Given the description of an element on the screen output the (x, y) to click on. 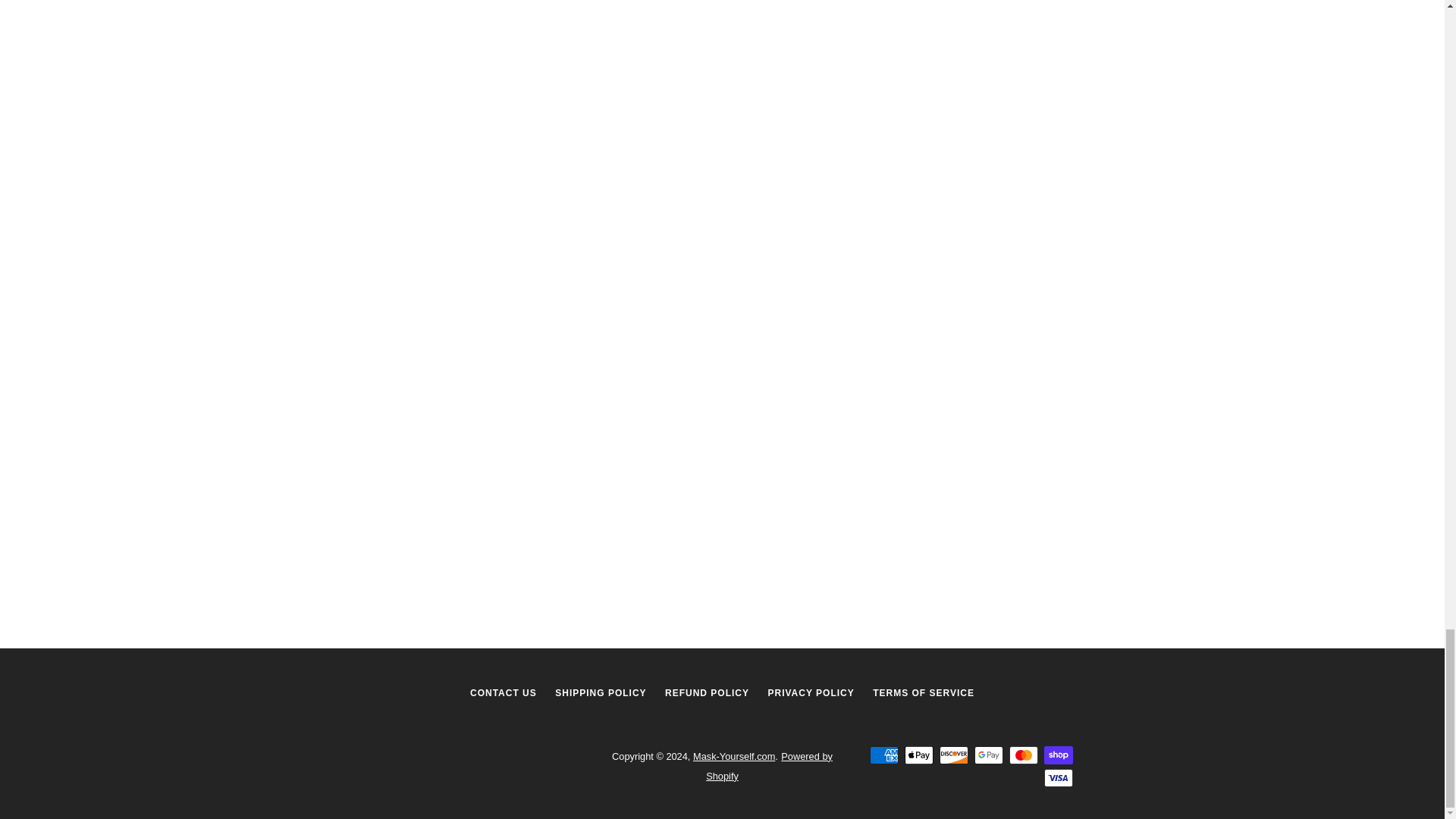
Powered by Shopify (769, 766)
Visa (1057, 778)
Google Pay (988, 755)
CONTACT US (503, 692)
SHIPPING POLICY (600, 692)
Discover (953, 755)
Shop Pay (1057, 755)
Mask-Yourself.com (733, 756)
Mastercard (1022, 755)
REFUND POLICY (707, 692)
